Given the description of an element on the screen output the (x, y) to click on. 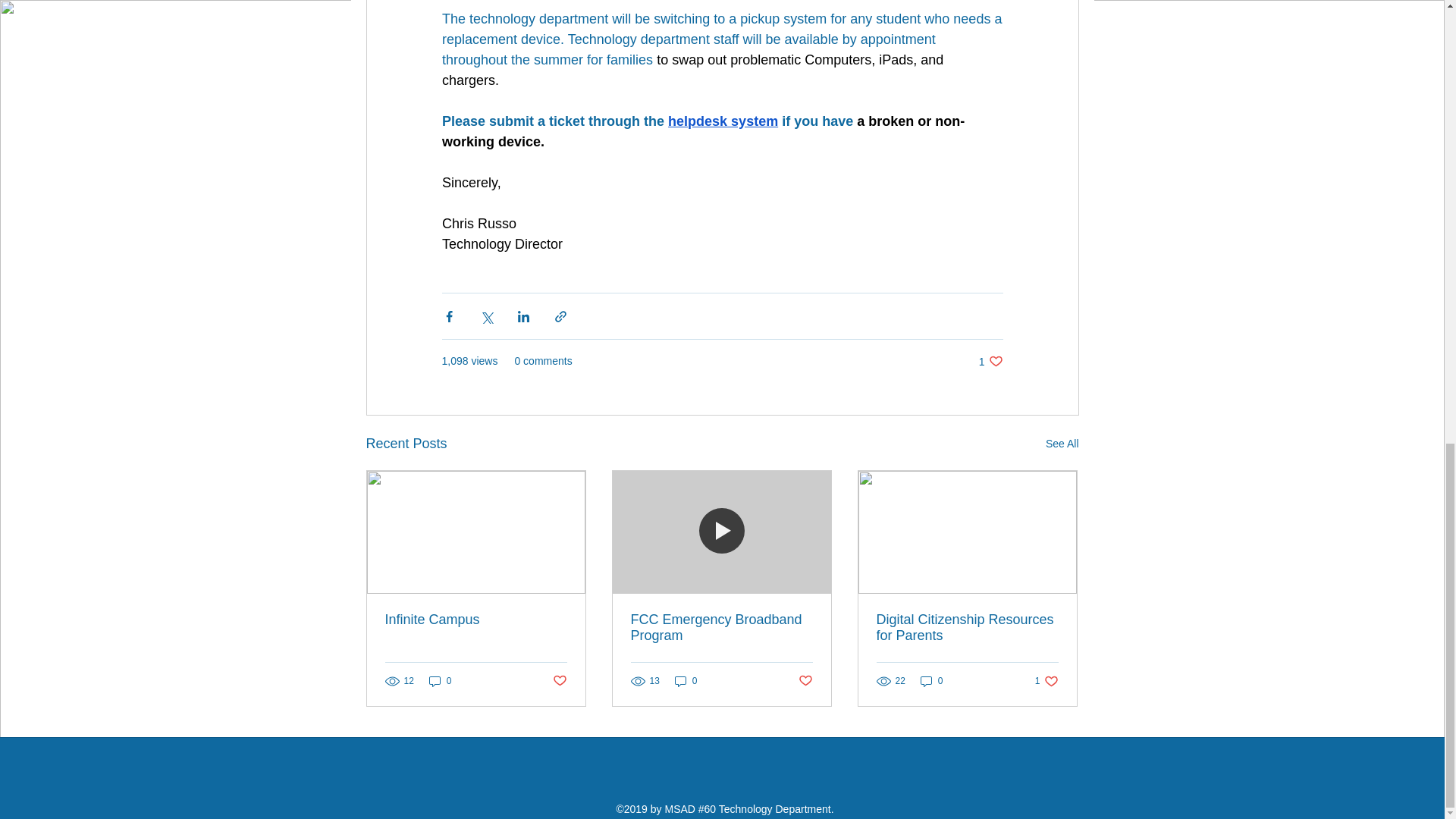
See All (1061, 444)
0 (440, 681)
Infinite Campus (476, 619)
FCC Emergency Broadband Program (721, 627)
Post not marked as liked (990, 360)
Post not marked as liked (804, 681)
0 (558, 681)
helpdesk system (685, 681)
